Given the description of an element on the screen output the (x, y) to click on. 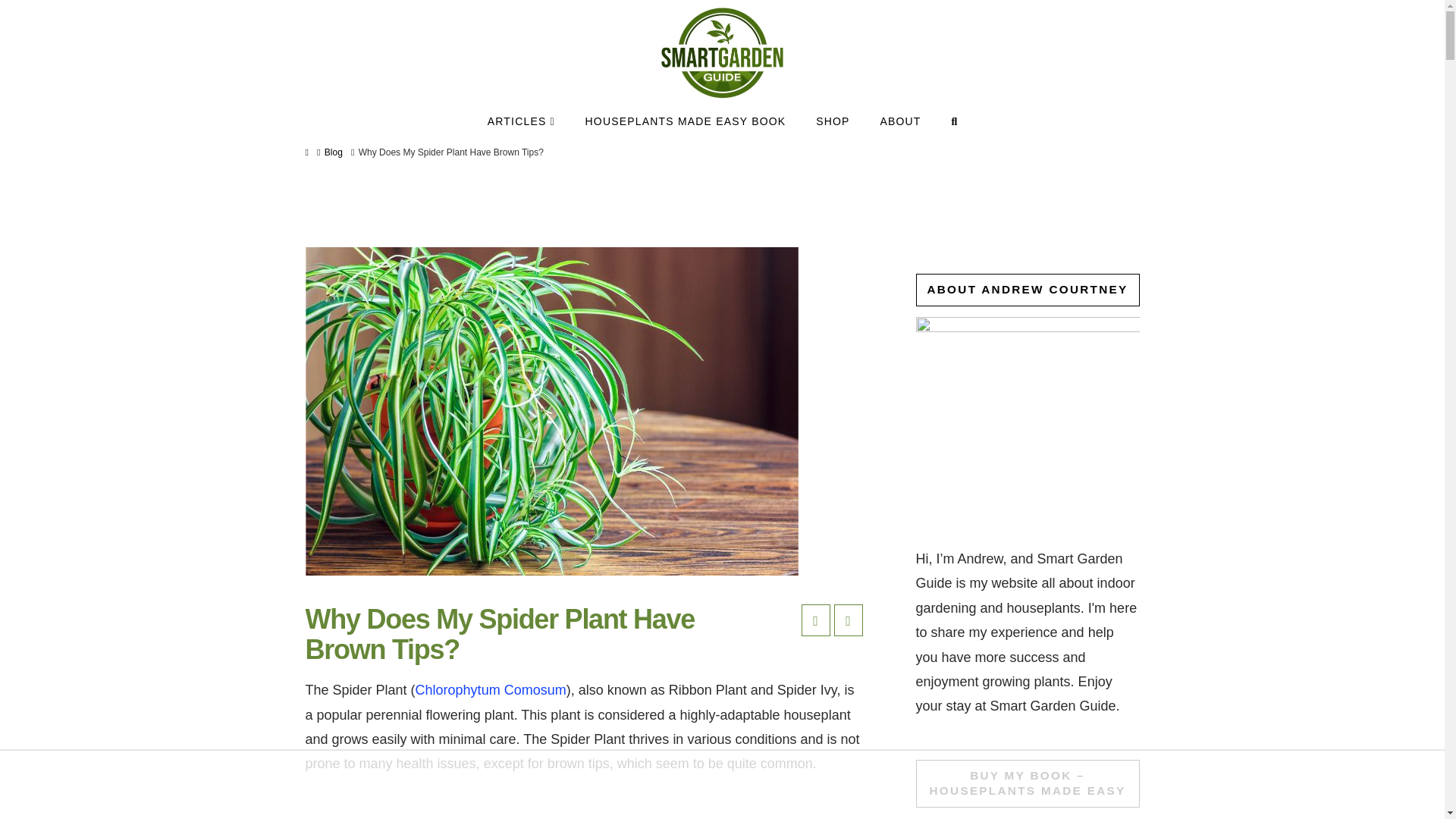
SHOP (832, 116)
Chlorophytum Comosum (490, 689)
You Are Here (450, 152)
Home (305, 152)
ARTICLES (520, 116)
ABOUT (900, 116)
HOUSEPLANTS MADE EASY BOOK (686, 116)
Blog (333, 152)
Why Does My Spider Plant Have Brown Tips? (450, 152)
